Given the description of an element on the screen output the (x, y) to click on. 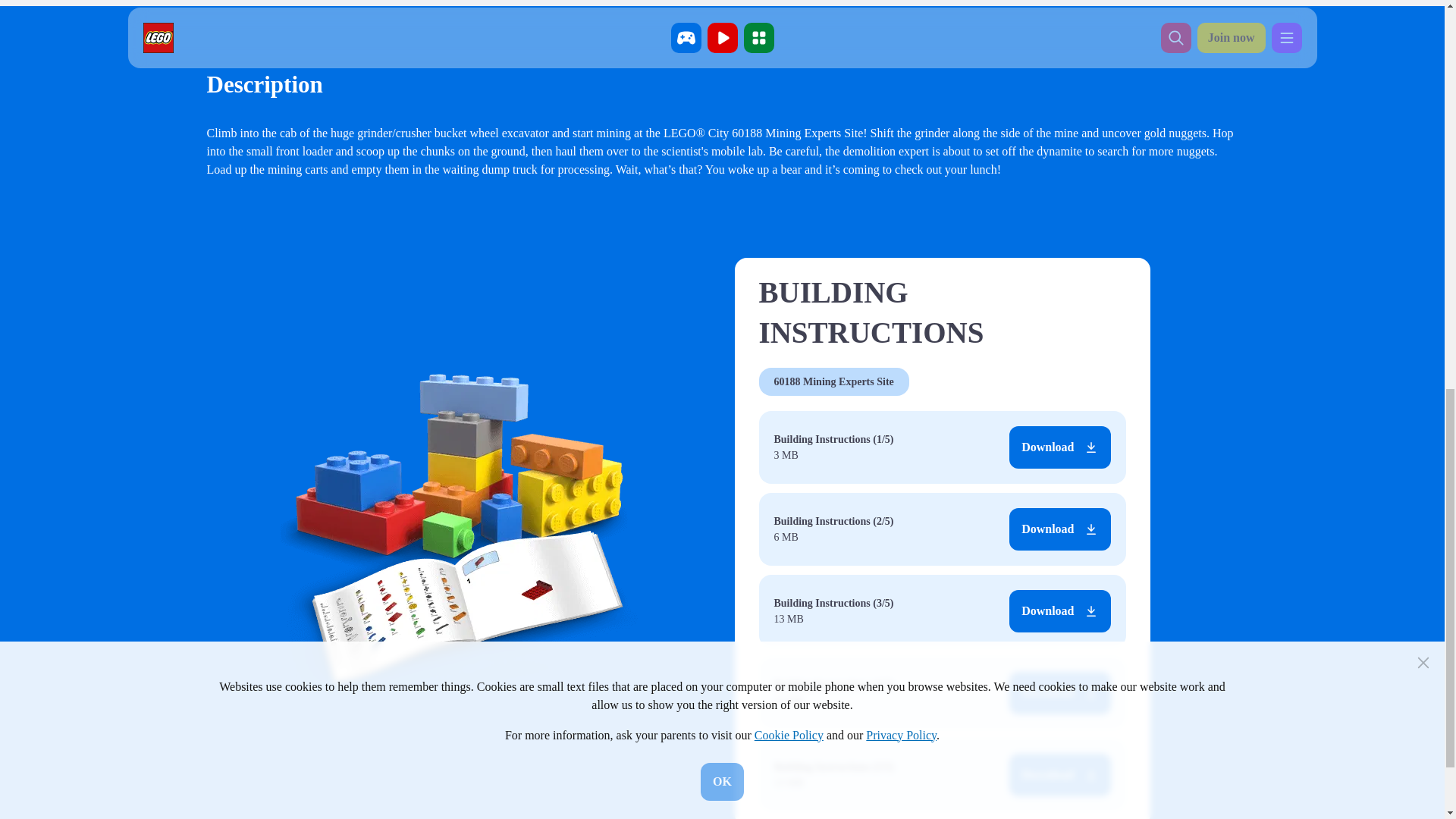
Download (1059, 446)
Download (1059, 610)
Download (1059, 528)
Download (1059, 692)
Download (1059, 774)
